Given the description of an element on the screen output the (x, y) to click on. 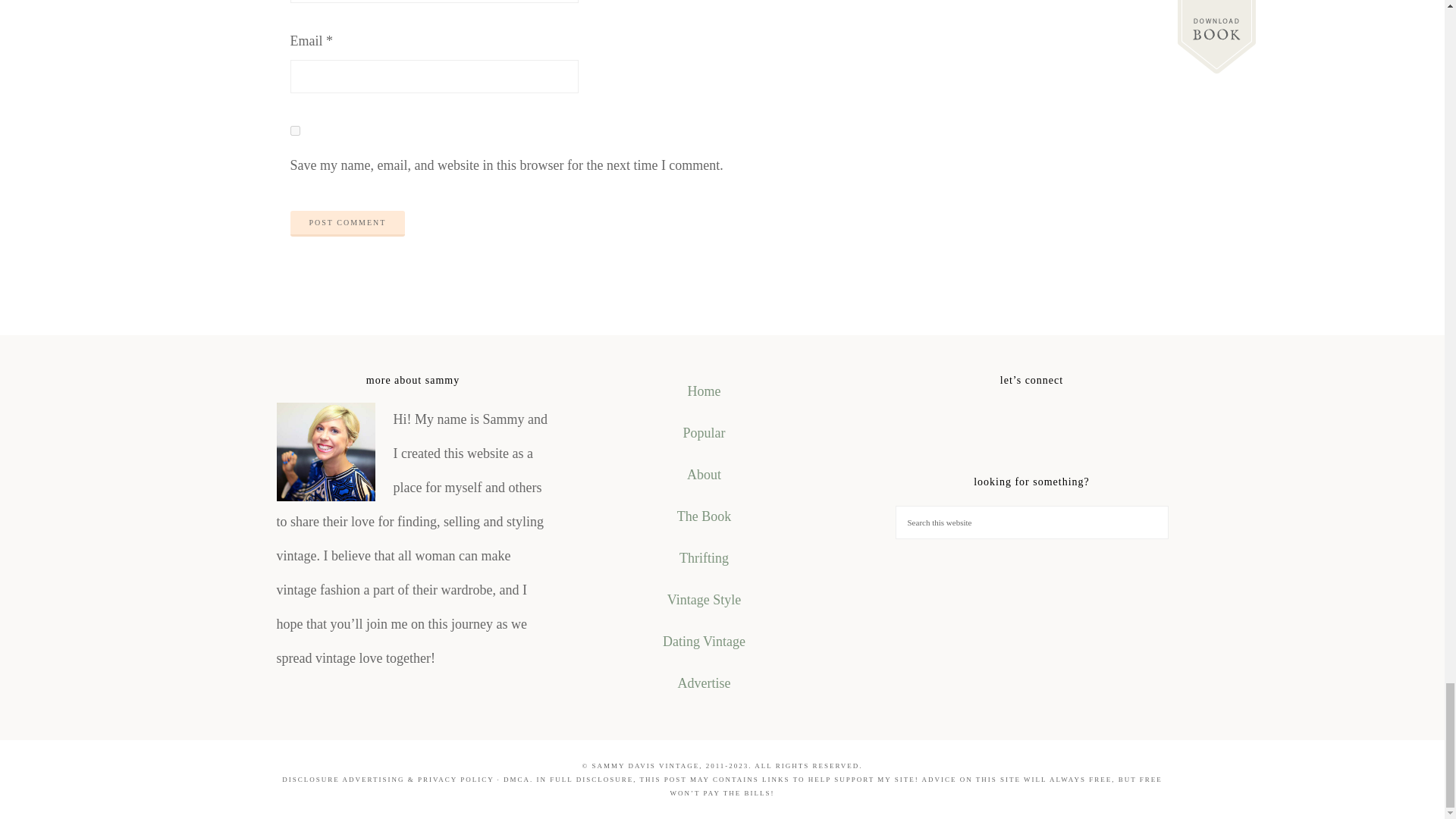
yes (294, 130)
Post Comment (346, 223)
